Given the description of an element on the screen output the (x, y) to click on. 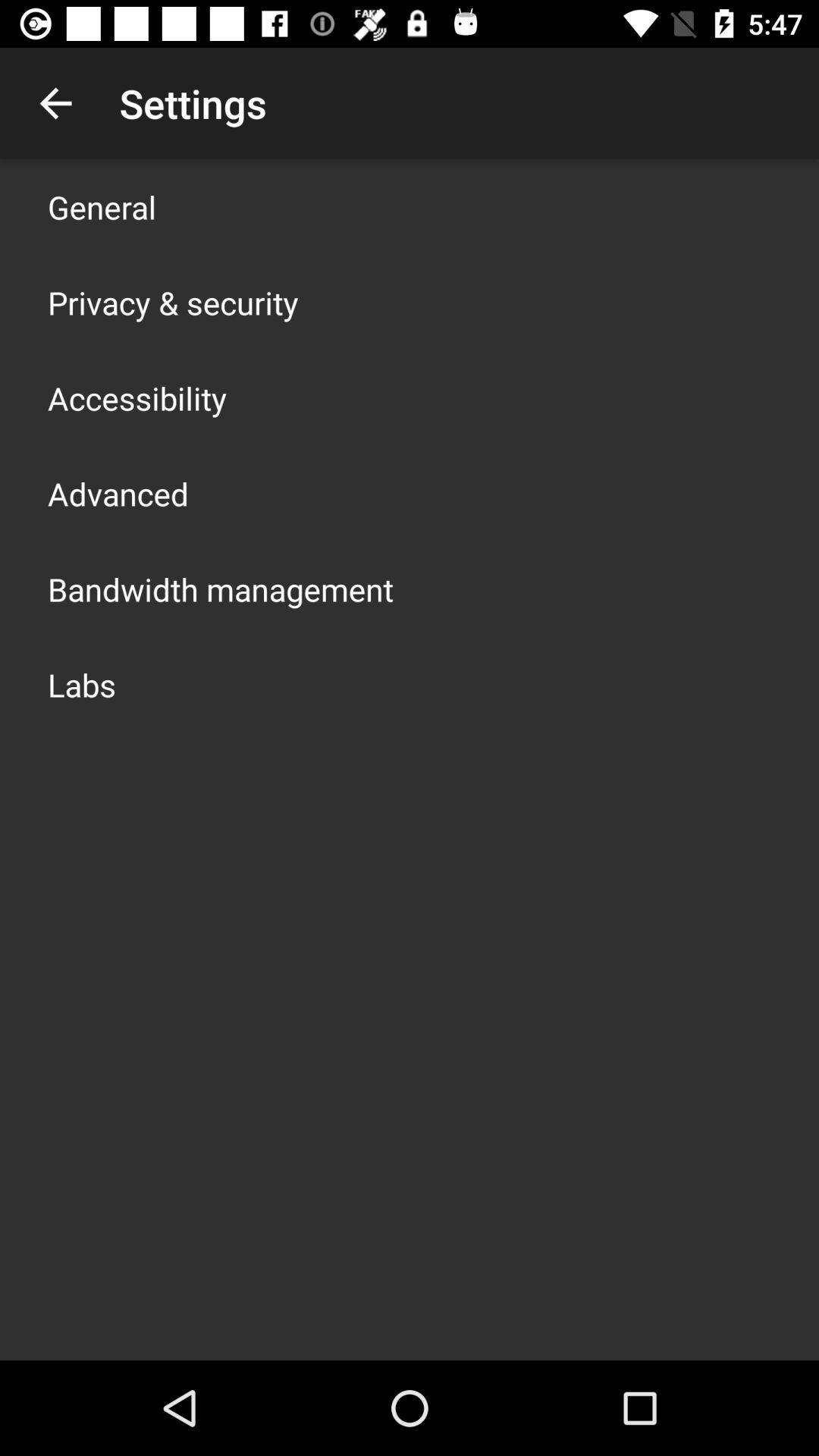
press app to the left of settings item (55, 103)
